Given the description of an element on the screen output the (x, y) to click on. 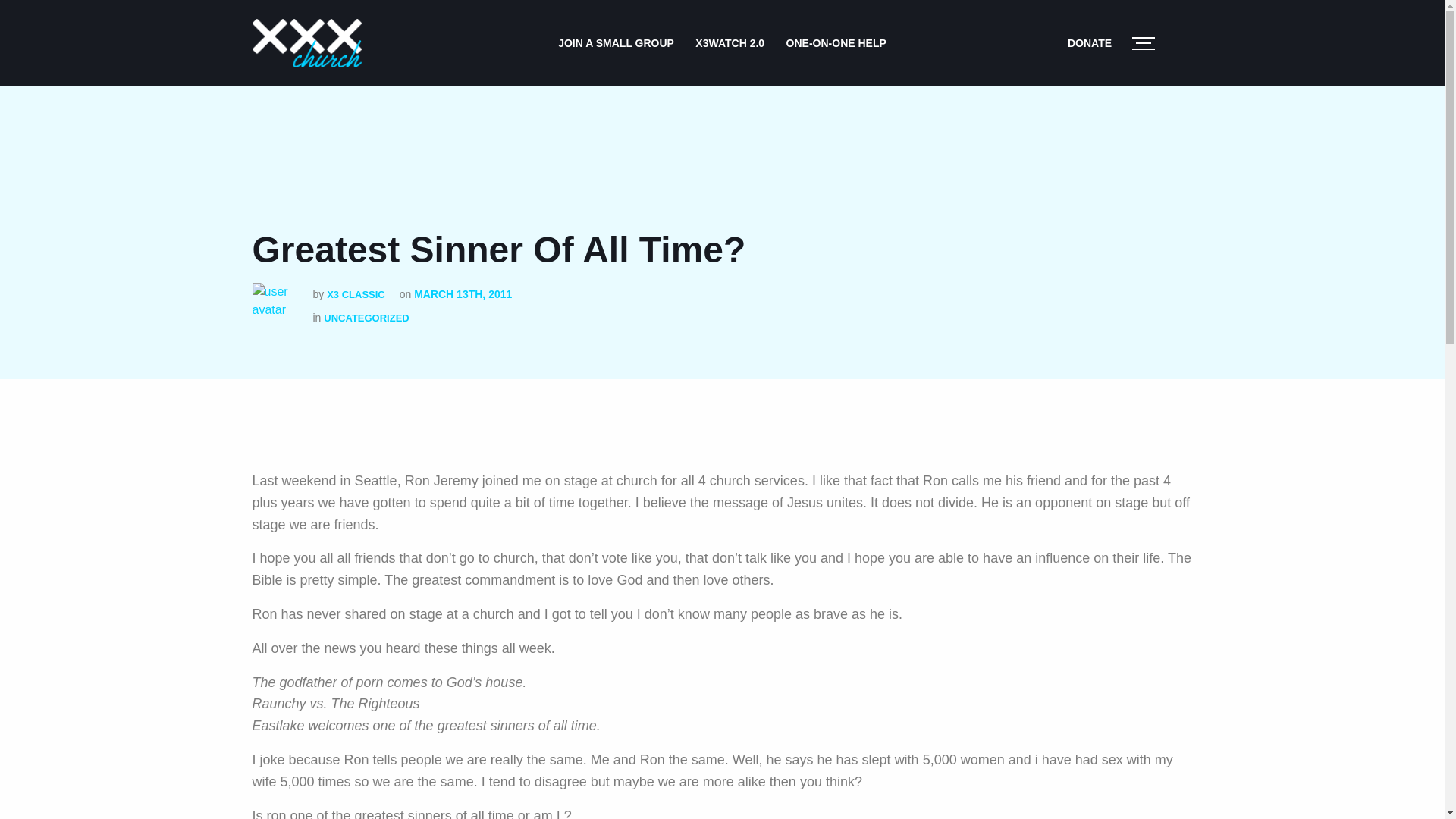
DONATE (1089, 43)
X3WATCH 2.0 (729, 43)
ONE-ON-ONE HELP (836, 43)
JOIN A SMALL GROUP (615, 43)
